Given the description of an element on the screen output the (x, y) to click on. 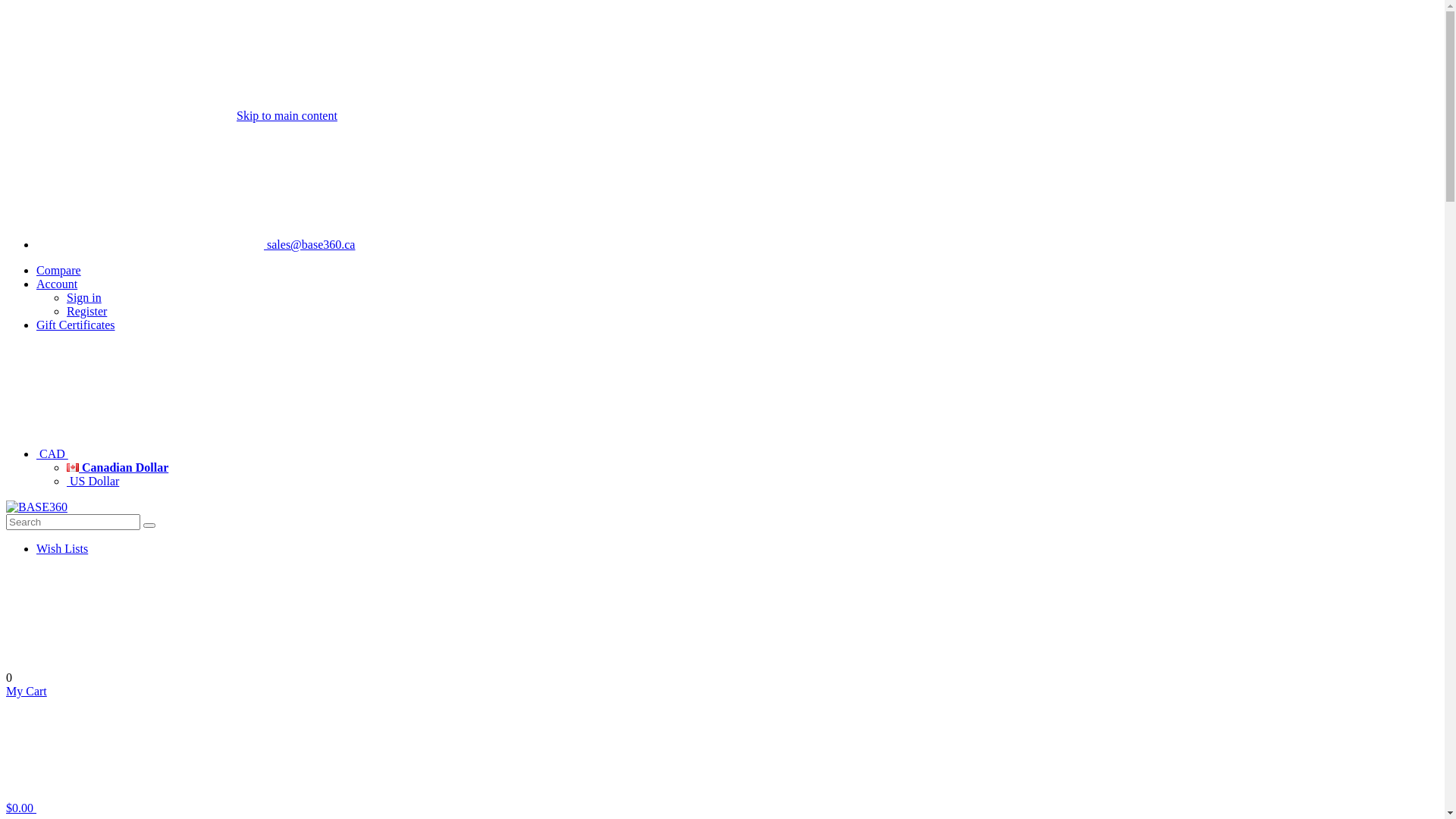
BASE360 Element type: hover (36, 507)
sales@base360.ca Element type: text (195, 244)
Skip to main content Element type: text (286, 115)
CAD Element type: text (165, 453)
US Dollar Element type: text (92, 480)
Gift Certificates Element type: text (75, 324)
My Cart
$0.00 Element type: text (134, 749)
Account Element type: text (56, 283)
Wish Lists Element type: text (61, 548)
Compare Element type: text (58, 269)
Canadian Dollar Element type: text (117, 467)
Sign in Element type: text (83, 297)
Search Element type: text (149, 525)
Register Element type: text (86, 310)
